Given the description of an element on the screen output the (x, y) to click on. 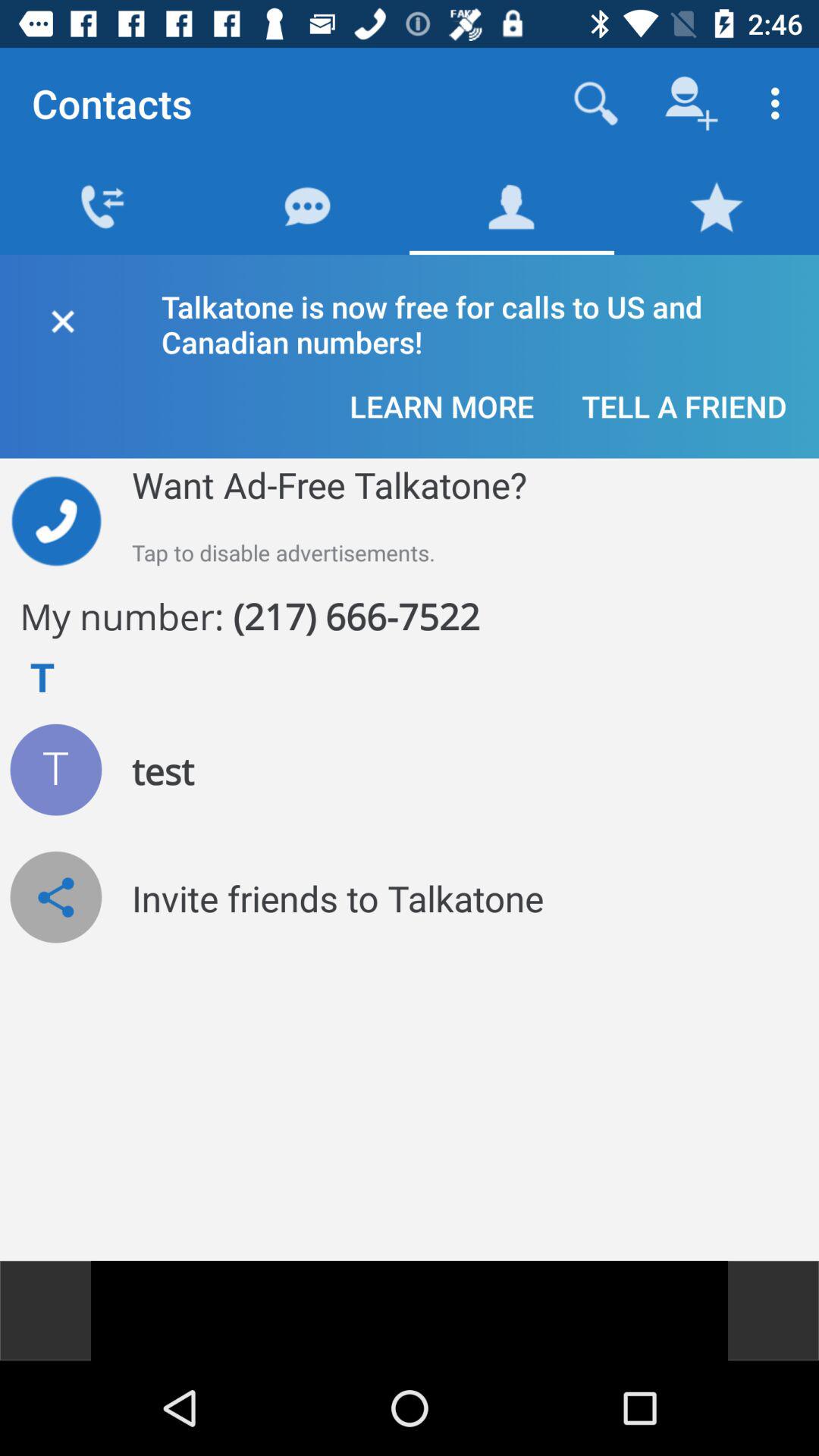
to cancel/to remove (62, 318)
